Given the description of an element on the screen output the (x, y) to click on. 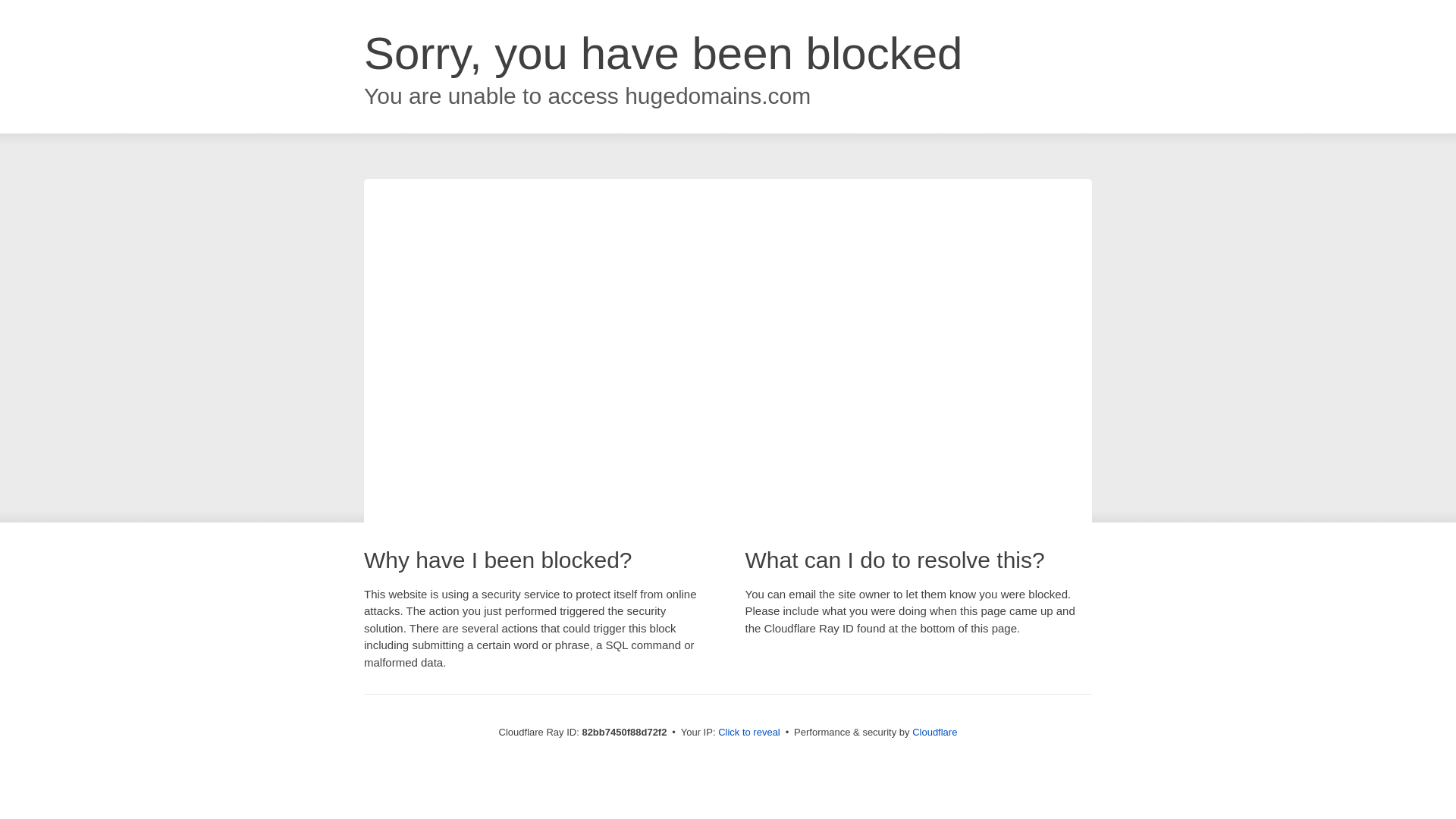
Click to reveal Element type: text (749, 732)
Cloudflare Element type: text (934, 731)
